Given the description of an element on the screen output the (x, y) to click on. 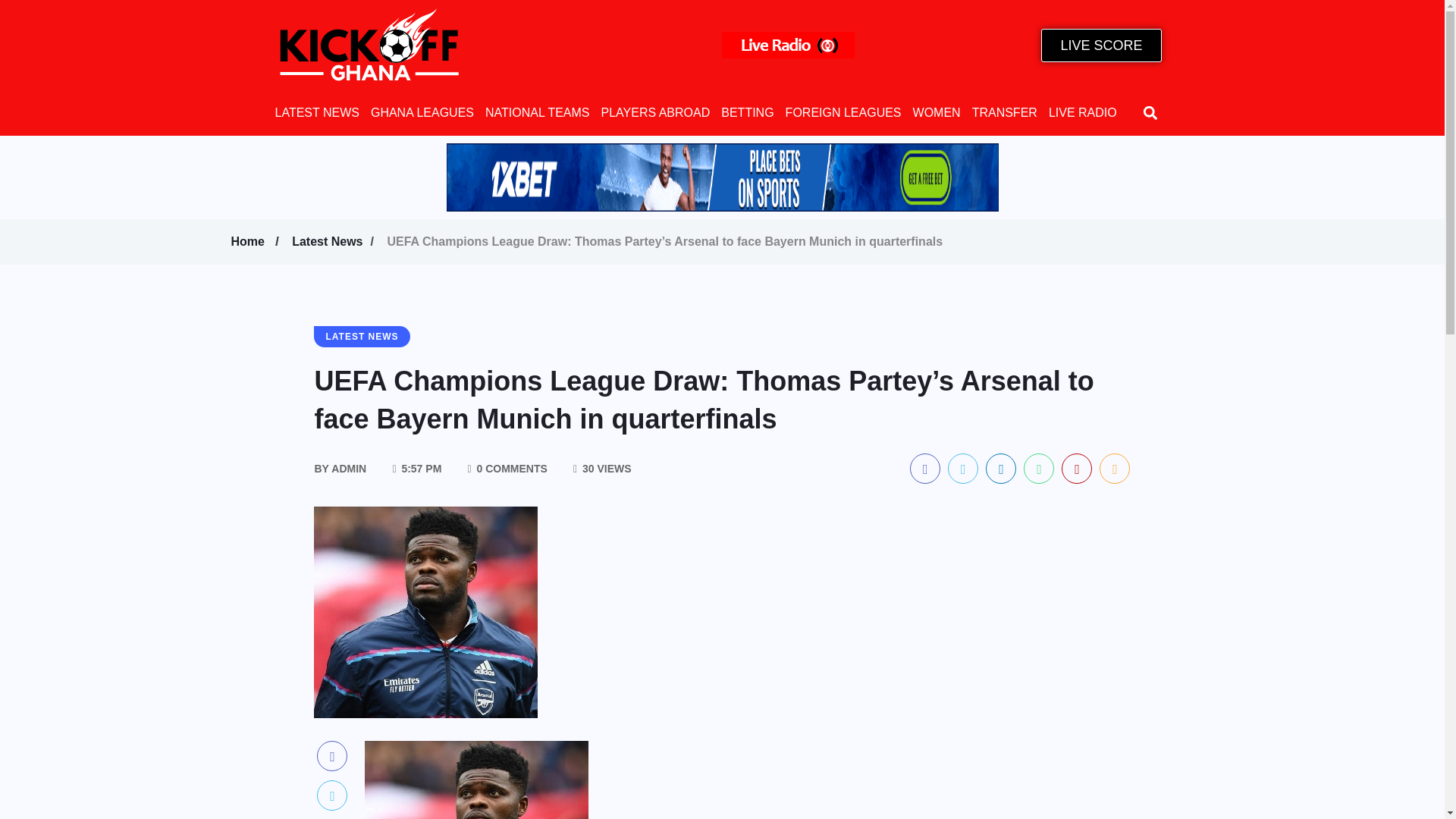
45205278295jpg - Kickoffghana.com (425, 612)
PLAYERS ABROAD (654, 112)
62a9ed6cecfff682825408 - Kickoffghana.com (721, 177)
GHANA LEAGUES (422, 112)
kickofghana-logo - Kickoffghana.com (369, 44)
WOMEN (936, 112)
NATIONAL TEAMS (536, 112)
LIVE RADIO (1082, 112)
BETTING (746, 112)
LIVE SCORE (1100, 45)
gsn-radio - Kickoffghana.com (788, 44)
FOREIGN LEAGUES (843, 112)
TRANSFER (1004, 112)
LATEST NEWS (316, 112)
